Given the description of an element on the screen output the (x, y) to click on. 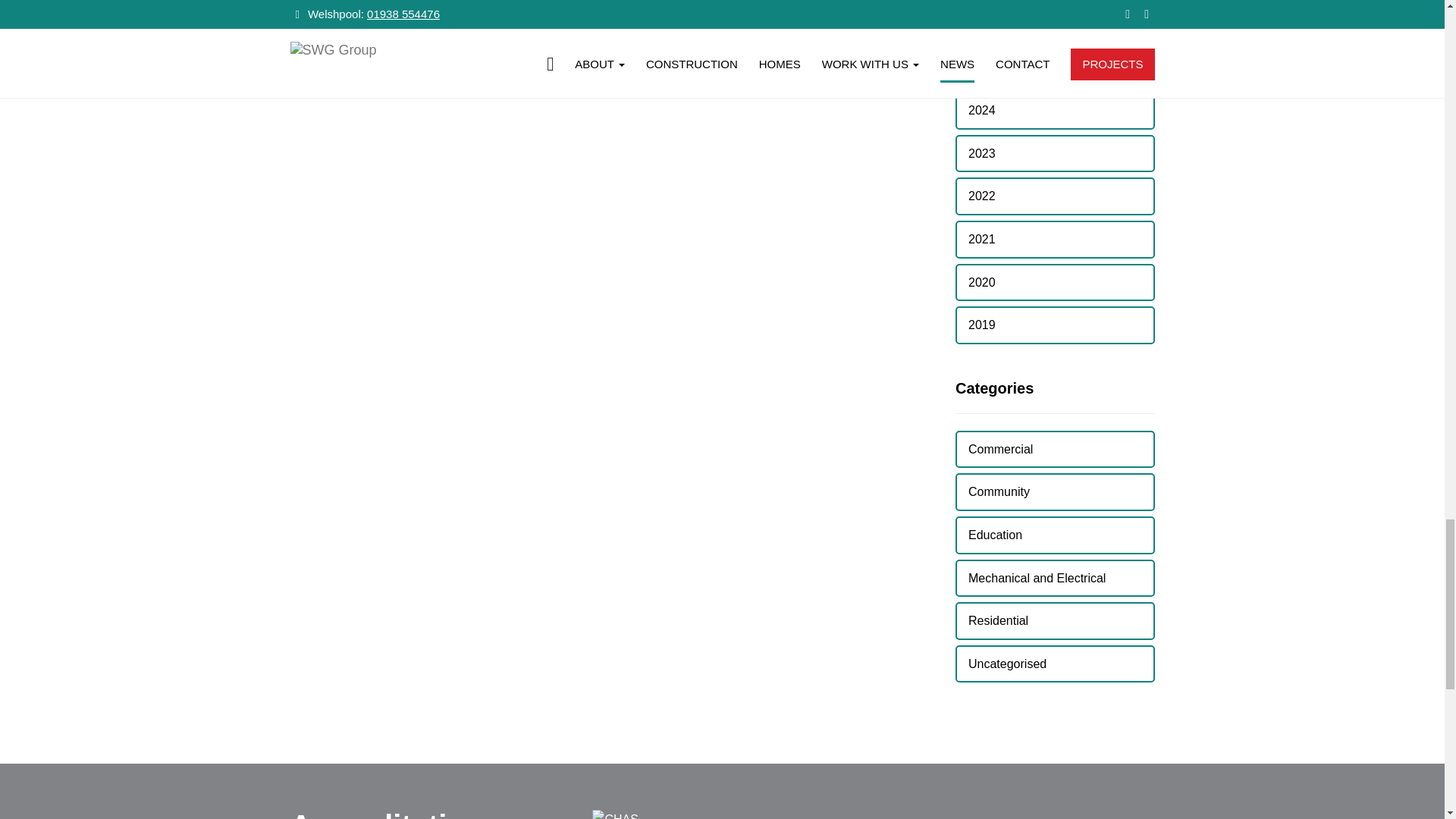
2024 (1054, 110)
2021 (1054, 239)
Community (1054, 492)
2020 (1054, 282)
2023 (1054, 153)
Commercial (1054, 449)
2019 (1054, 324)
2022 (1054, 196)
